Given the description of an element on the screen output the (x, y) to click on. 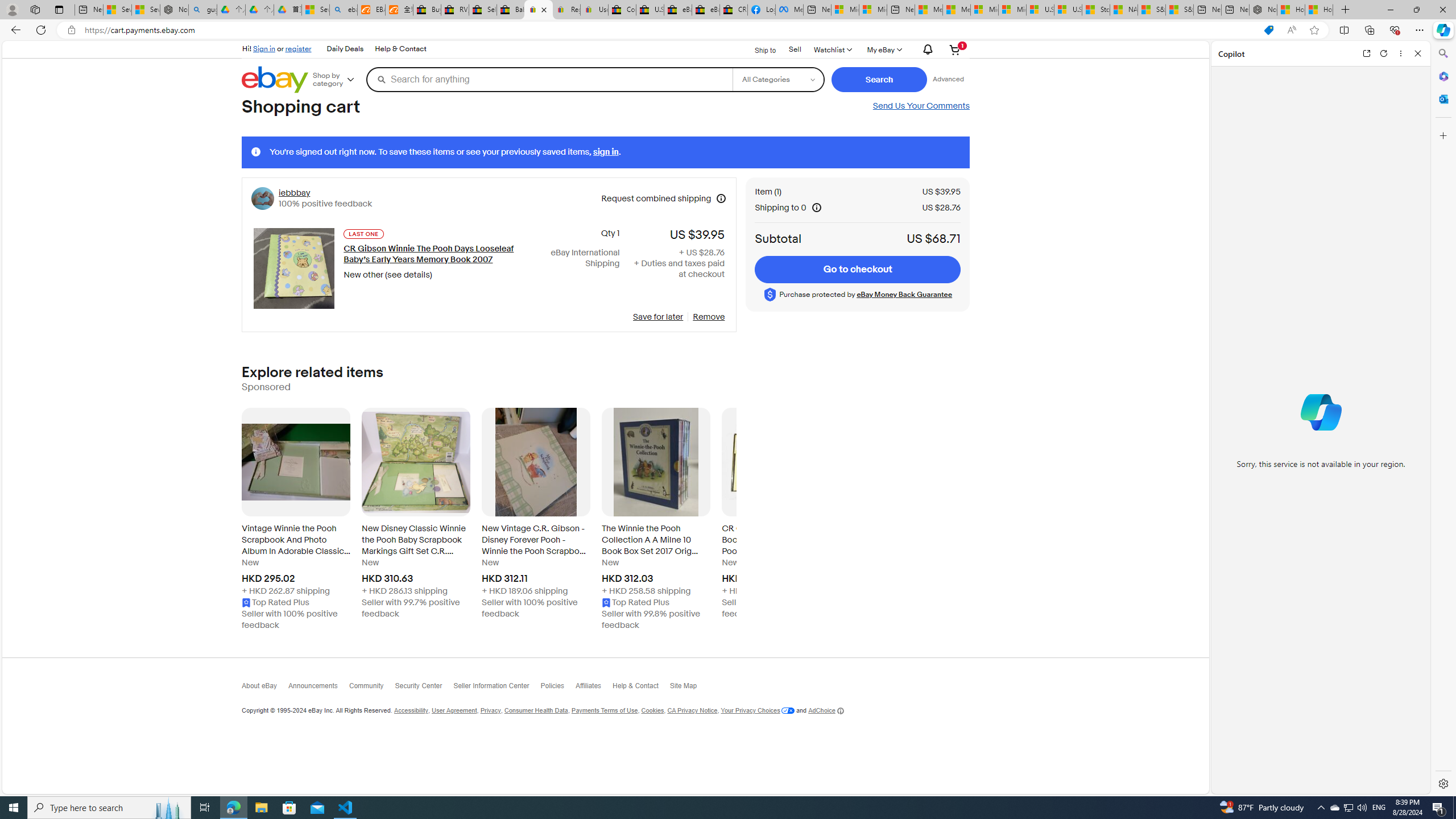
Select a category for search (778, 78)
Affiliates (593, 688)
My eBayExpand My eBay (883, 49)
Consumer Health Data (535, 710)
Open link in new tab (1366, 53)
